Given the description of an element on the screen output the (x, y) to click on. 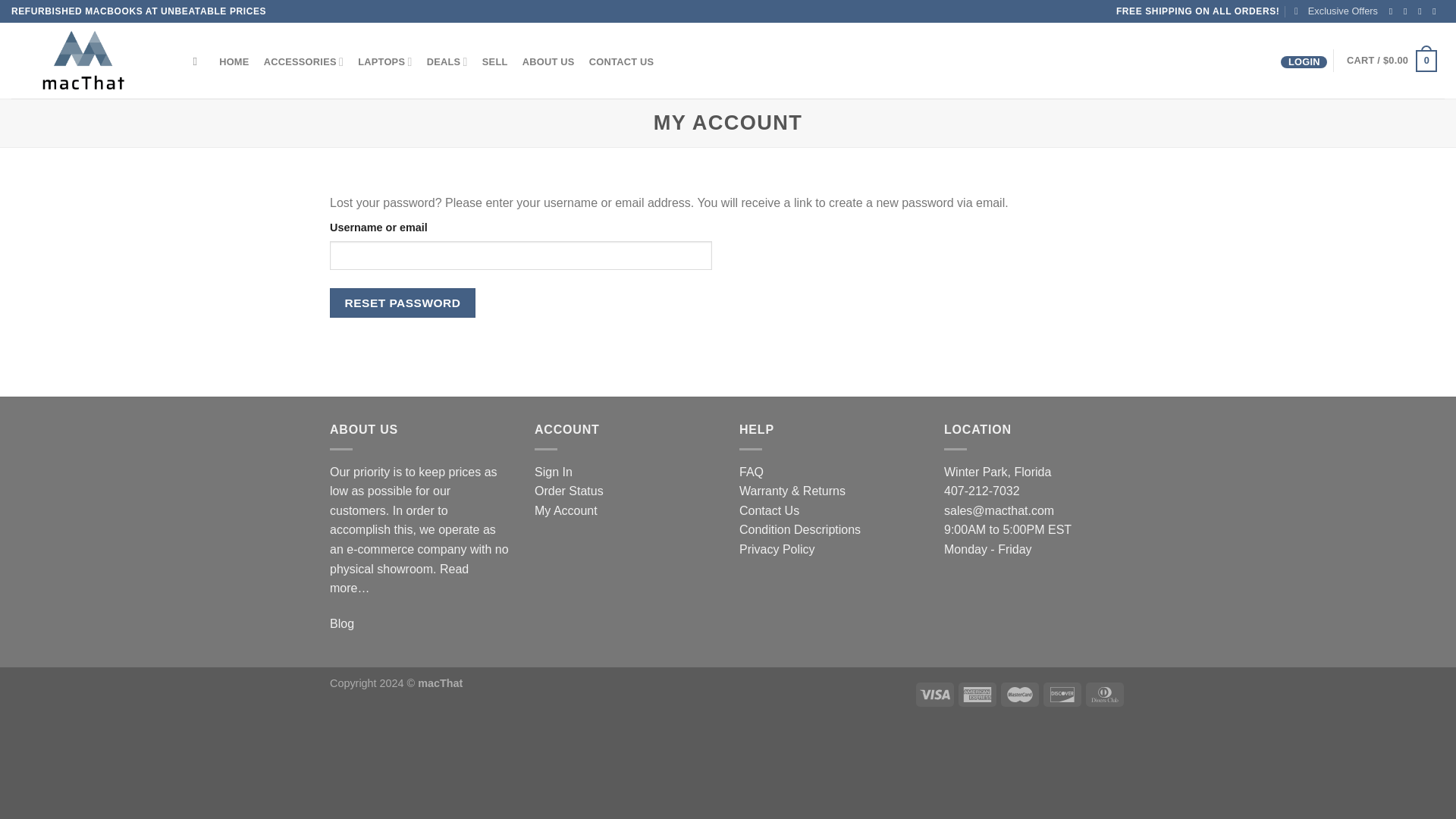
CONTACT US (620, 61)
Order Status (569, 490)
My Account (565, 510)
ABOUT US (547, 61)
HOME (234, 61)
DEALS (446, 61)
Blog (341, 623)
ACCESSORIES (303, 61)
SELL (494, 61)
macThat - Refurbished MacBook Computers (87, 60)
Sign In (553, 472)
Cart (1391, 61)
Sign up for Exclusive Offers (1335, 11)
LAPTOPS (384, 61)
Exclusive Offers (1335, 11)
